Given the description of an element on the screen output the (x, y) to click on. 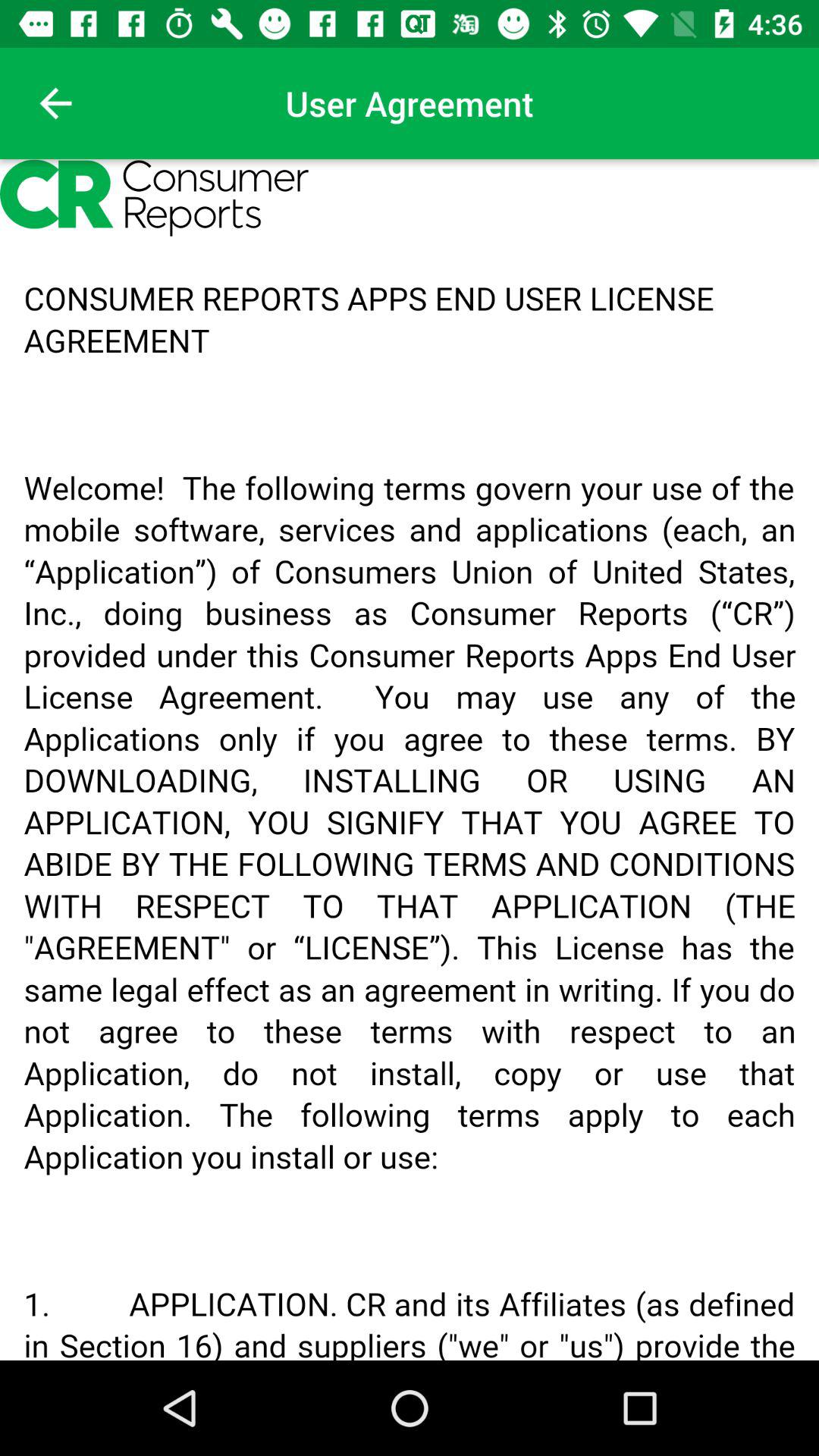
back the option (55, 103)
